Given the description of an element on the screen output the (x, y) to click on. 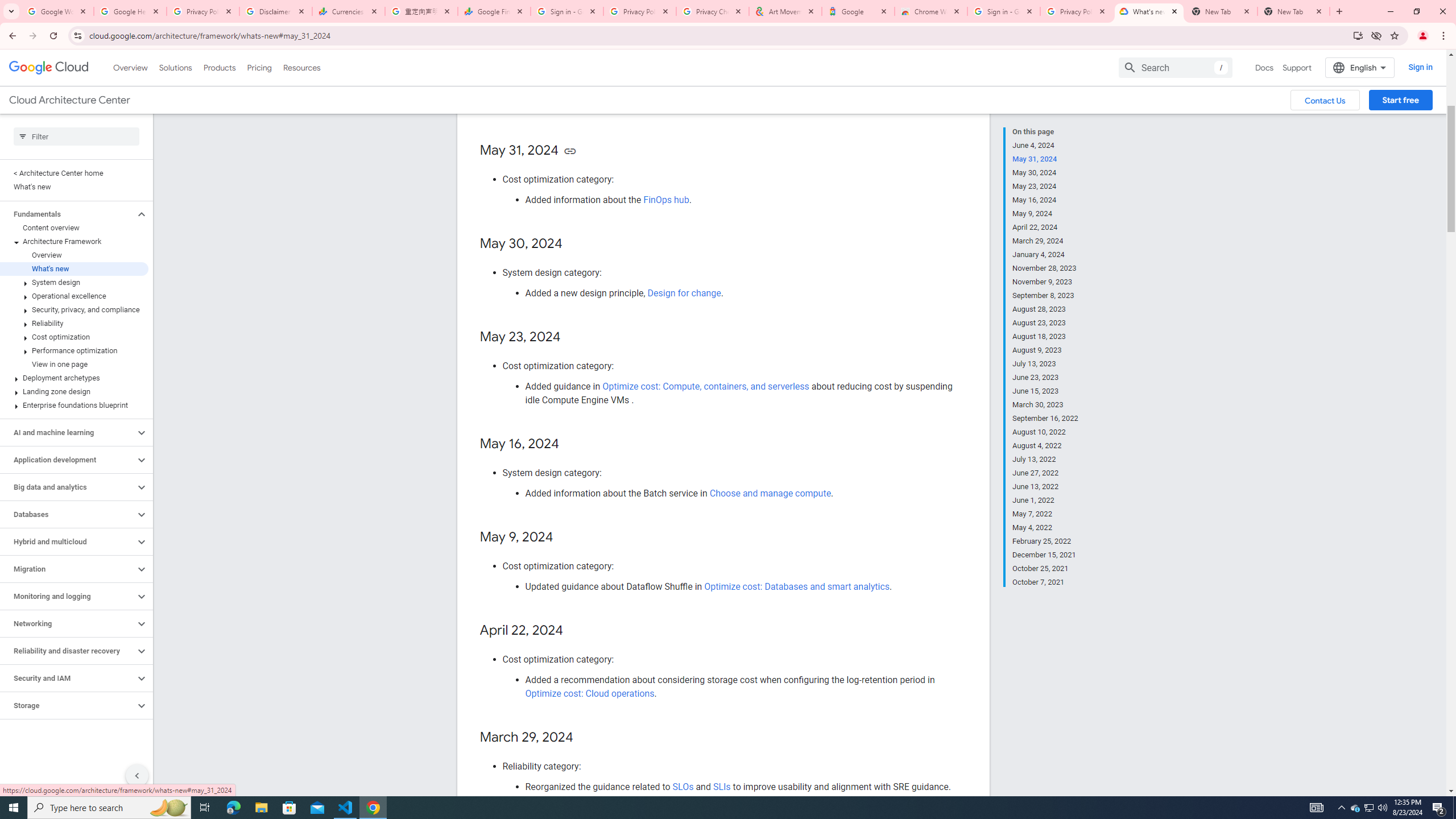
May 16, 2024 (1044, 200)
Optimize cost: Compute, containers, and serverless (705, 385)
October 25, 2021 (1044, 568)
August 9, 2023 (1044, 350)
Contact Us (1324, 100)
SLOs (683, 786)
June 23, 2023 (1044, 377)
May 7, 2022 (1044, 513)
Copy link to this section: May 31, 2024 (570, 151)
June 4, 2024 (1044, 145)
Products (218, 67)
June 15, 2023 (1044, 391)
Pricing (259, 67)
